Given the description of an element on the screen output the (x, y) to click on. 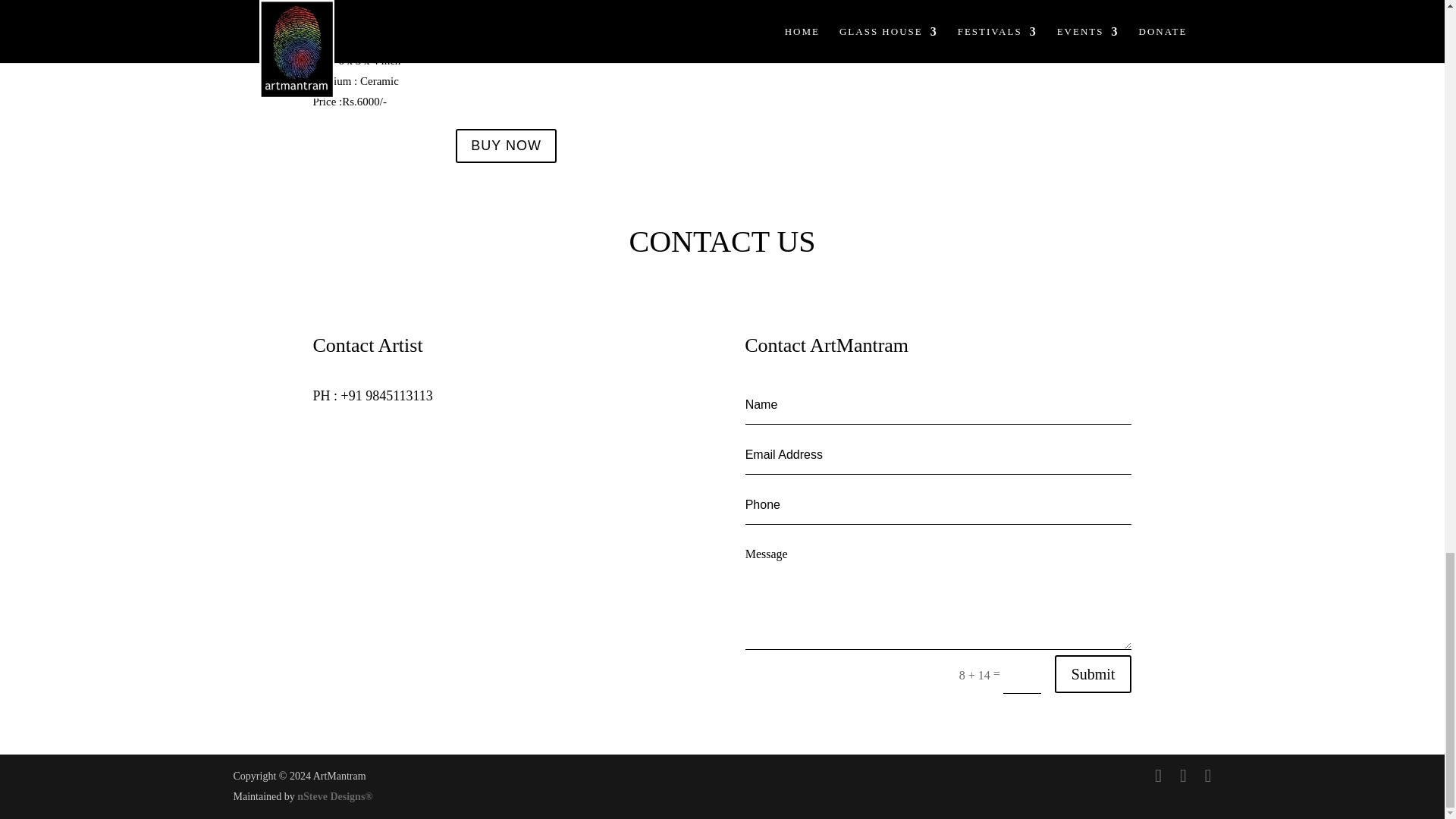
Untitled 1 by JMS Mani (377, 10)
Untitled 1 (377, 15)
Minimum length: 6 characters.  (938, 505)
